Given the description of an element on the screen output the (x, y) to click on. 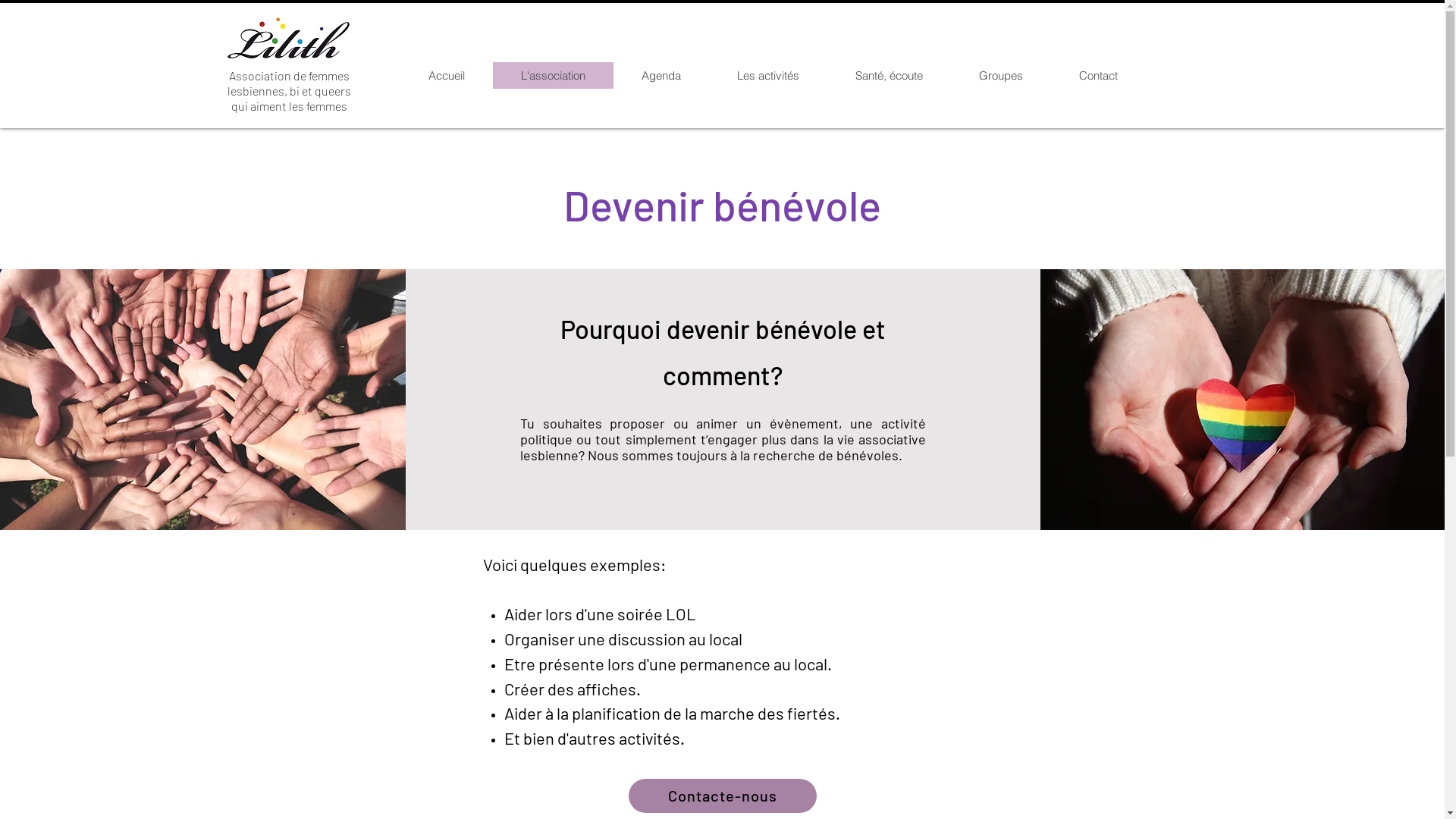
Groupes Element type: text (1000, 75)
Contact Element type: text (1098, 75)
Accueil Element type: text (446, 75)
Agenda Element type: text (660, 75)
L'association Element type: text (552, 75)
Contacte-nous Element type: text (721, 795)
